Given the description of an element on the screen output the (x, y) to click on. 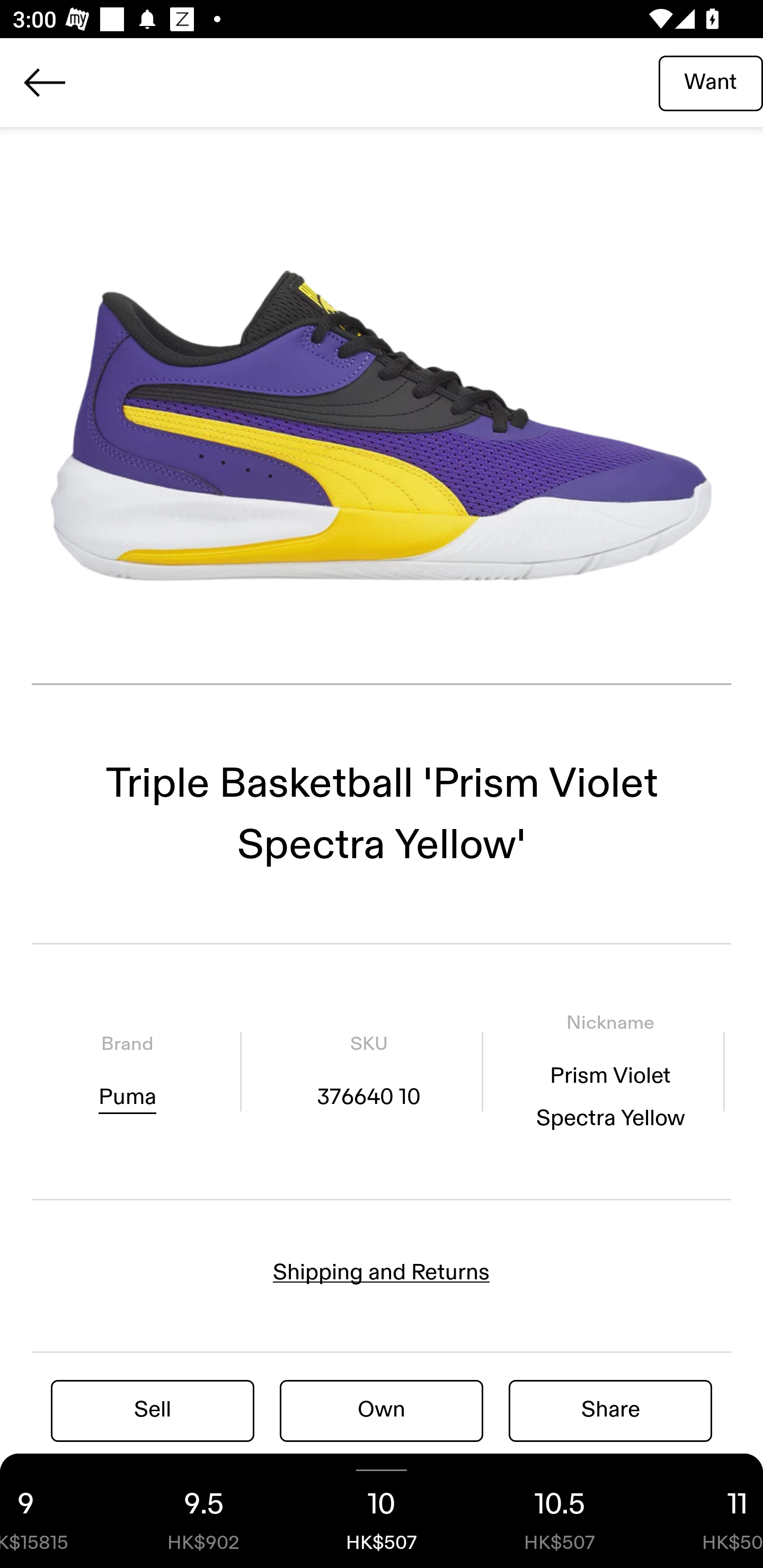
Want (710, 82)
Brand Puma (126, 1070)
SKU 376640 10 (368, 1070)
Nickname Prism Violet Spectra Yellow (609, 1070)
Shipping and Returns (381, 1272)
Sell (152, 1410)
Own (381, 1410)
Share (609, 1410)
9 HK$15815 (57, 1510)
9.5 HK$902 (203, 1510)
10 HK$507 (381, 1510)
10.5 HK$507 (559, 1510)
11 HK$507 (705, 1510)
